Given the description of an element on the screen output the (x, y) to click on. 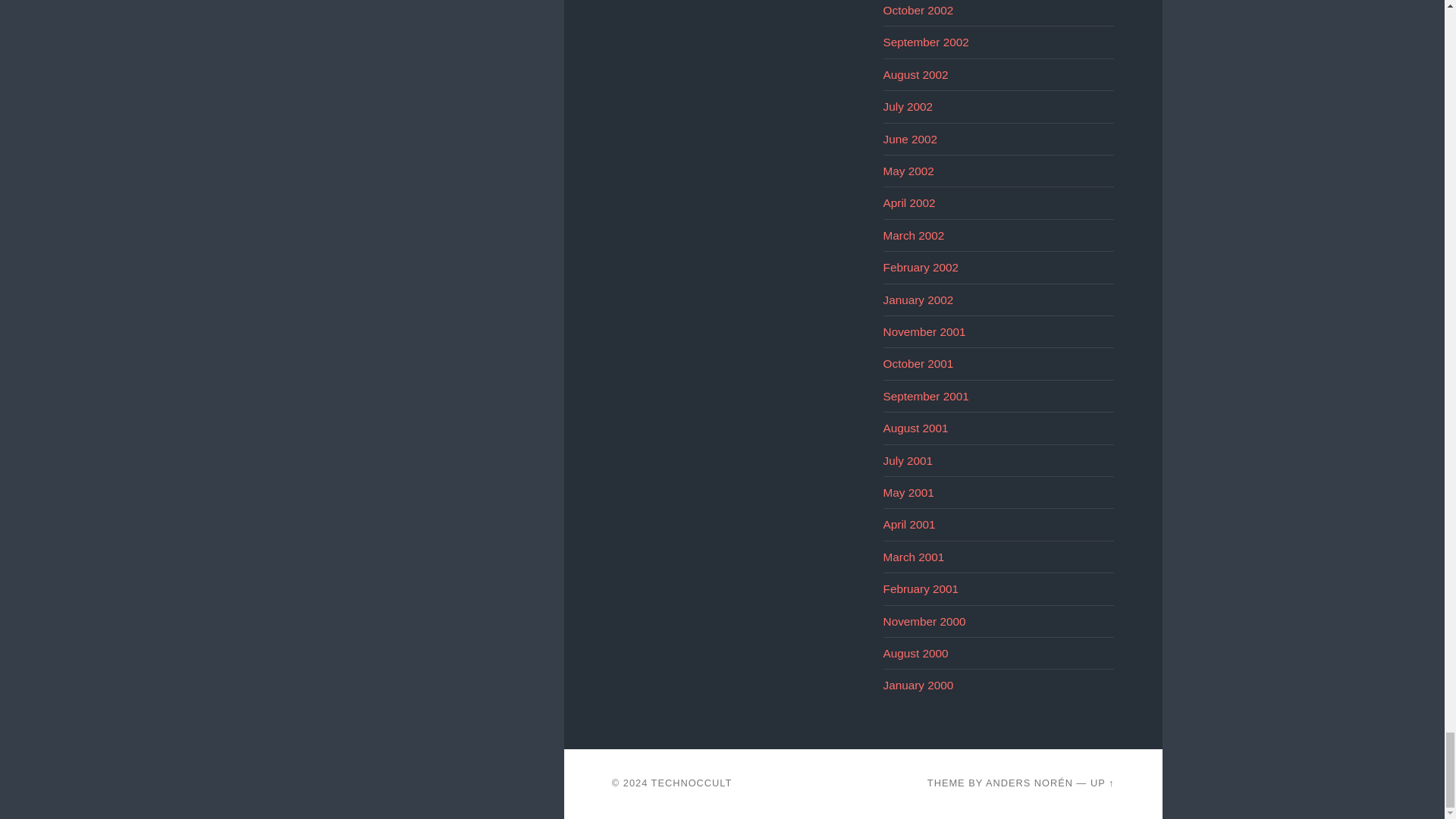
Technoccult (691, 782)
To the top (1102, 782)
